Given the description of an element on the screen output the (x, y) to click on. 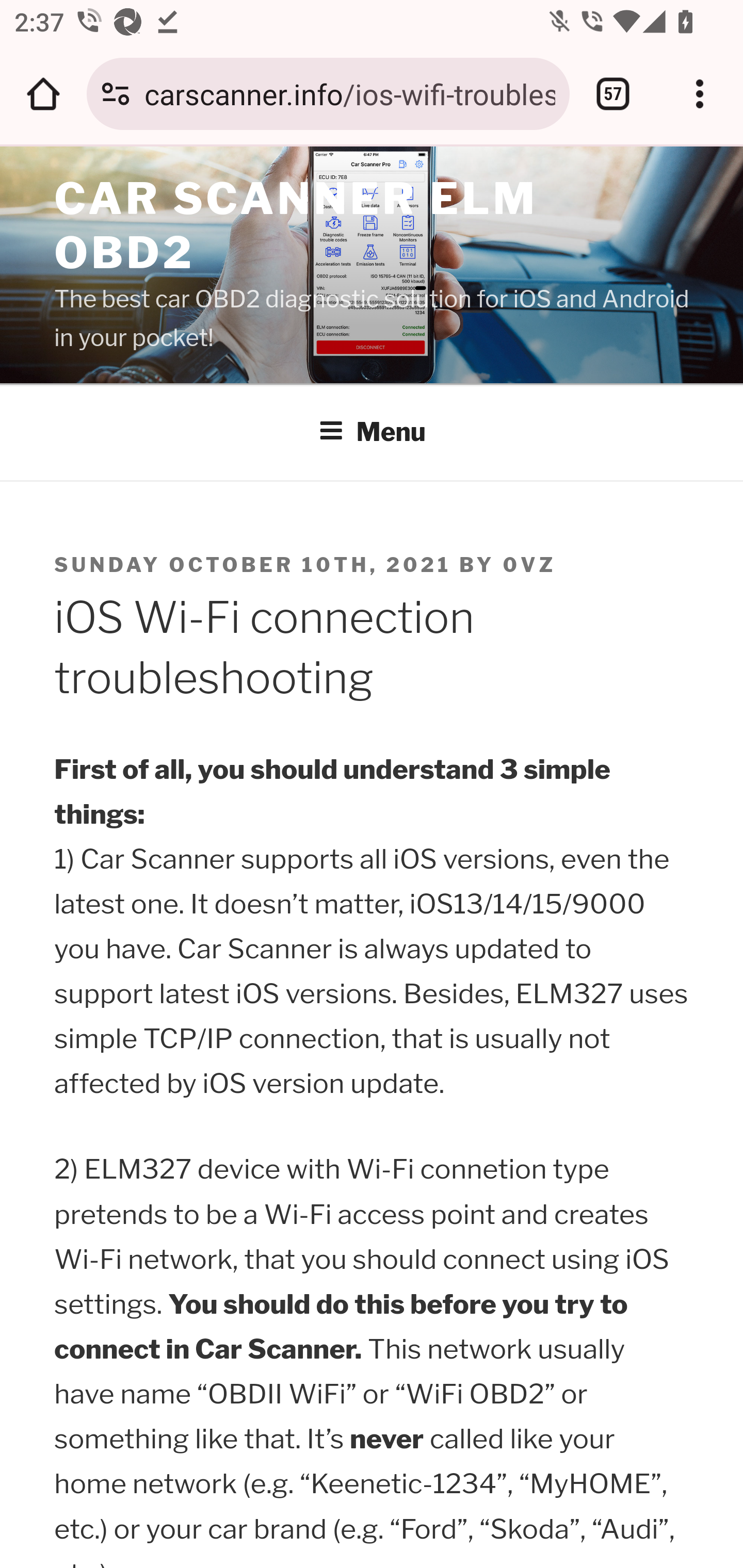
Open the home page (43, 93)
Connection is secure (115, 93)
Switch or close tabs (612, 93)
Customize and control Google Chrome (699, 93)
carscanner.info/ios-wifi-troubleshooting/ (349, 92)
Menu (372, 431)
SUNDAY OCTOBER 10TH, 2021 (253, 564)
0VZ (529, 564)
